Given the description of an element on the screen output the (x, y) to click on. 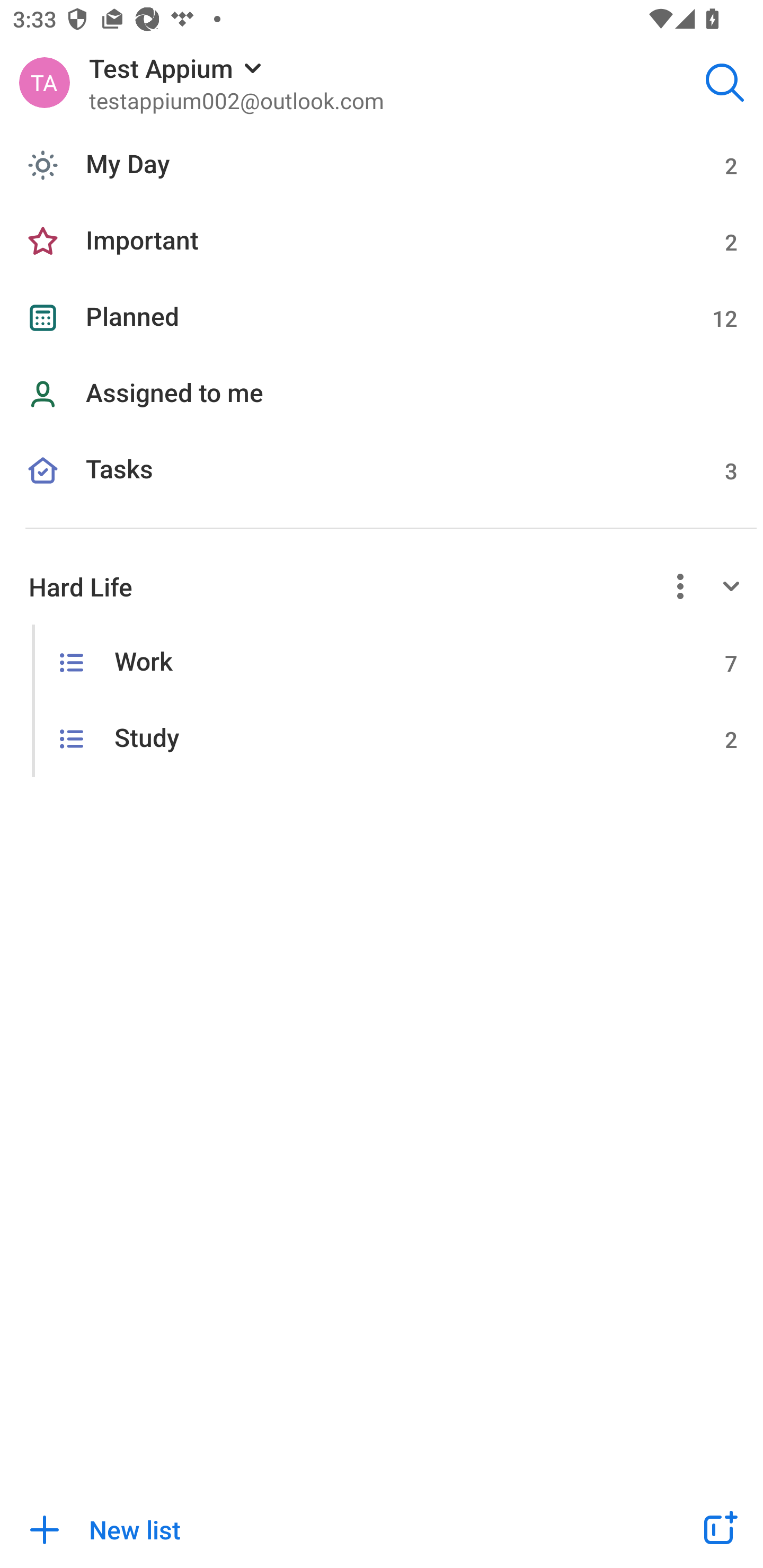
Planned, 12 tasks Planned 12 (381, 317)
